Given the description of an element on the screen output the (x, y) to click on. 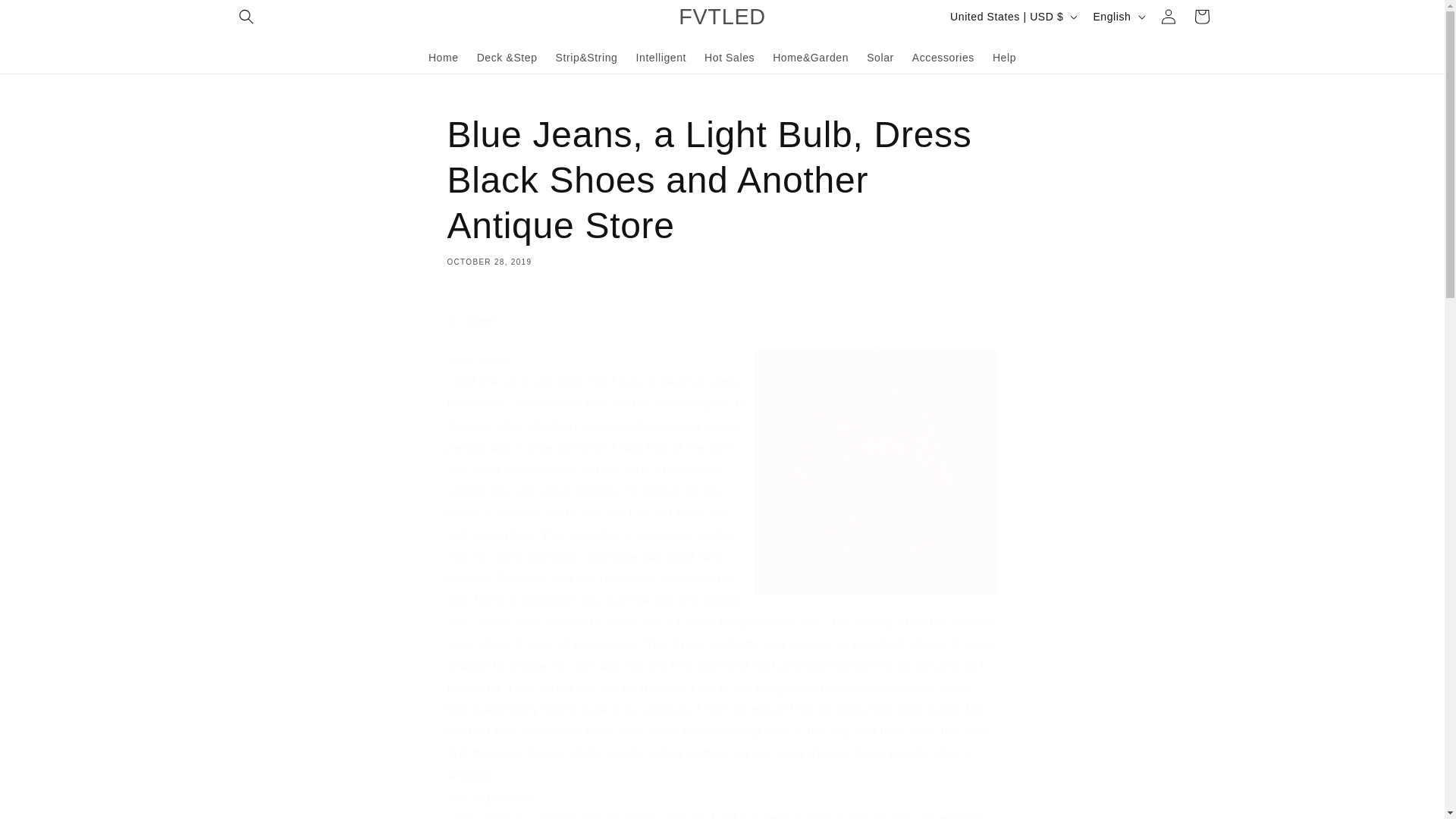
FVTLED (721, 16)
Solar (879, 56)
Cart (1201, 16)
Intelligent (660, 56)
Home (443, 56)
English (1117, 16)
Hot Sales (728, 56)
Help (1004, 56)
Skip to content (45, 17)
